Given the description of an element on the screen output the (x, y) to click on. 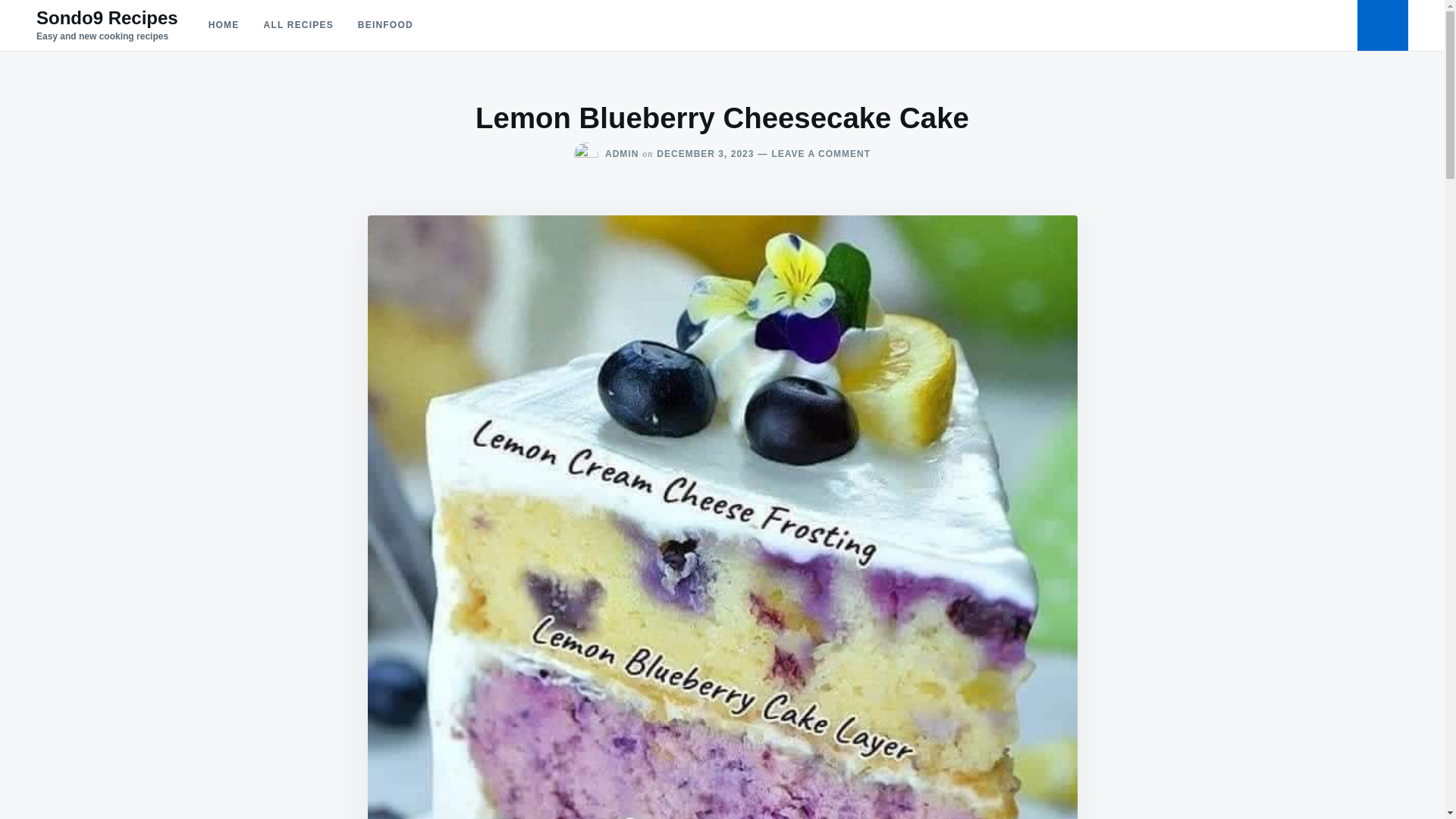
HOME (812, 153)
ALL RECIPES (223, 25)
Sondo9 Recipes (298, 25)
DECEMBER 3, 2023 (106, 17)
ADMIN (705, 153)
BEINFOOD (622, 153)
